Given the description of an element on the screen output the (x, y) to click on. 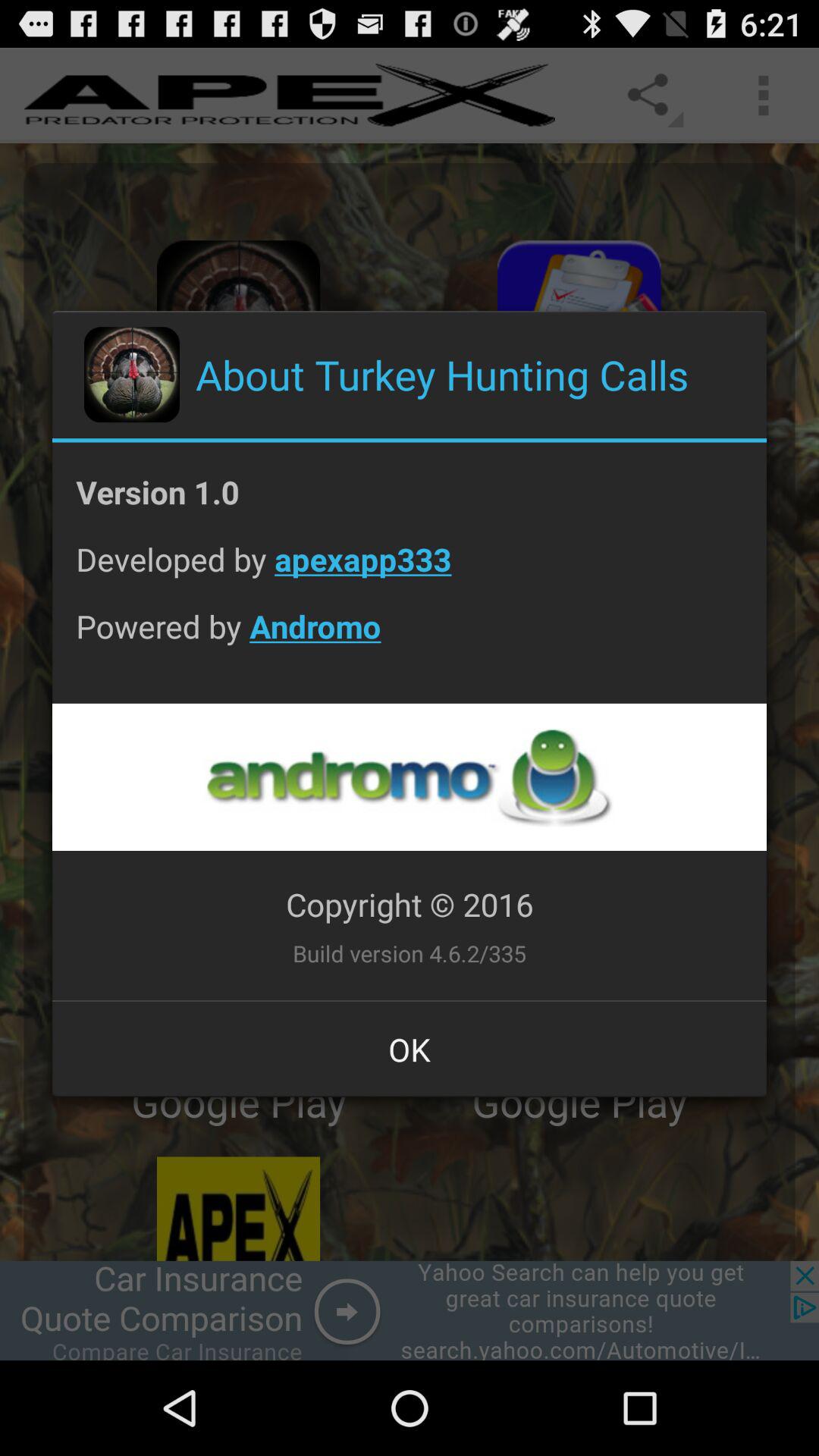
tap developed by apexapp333 app (409, 570)
